Given the description of an element on the screen output the (x, y) to click on. 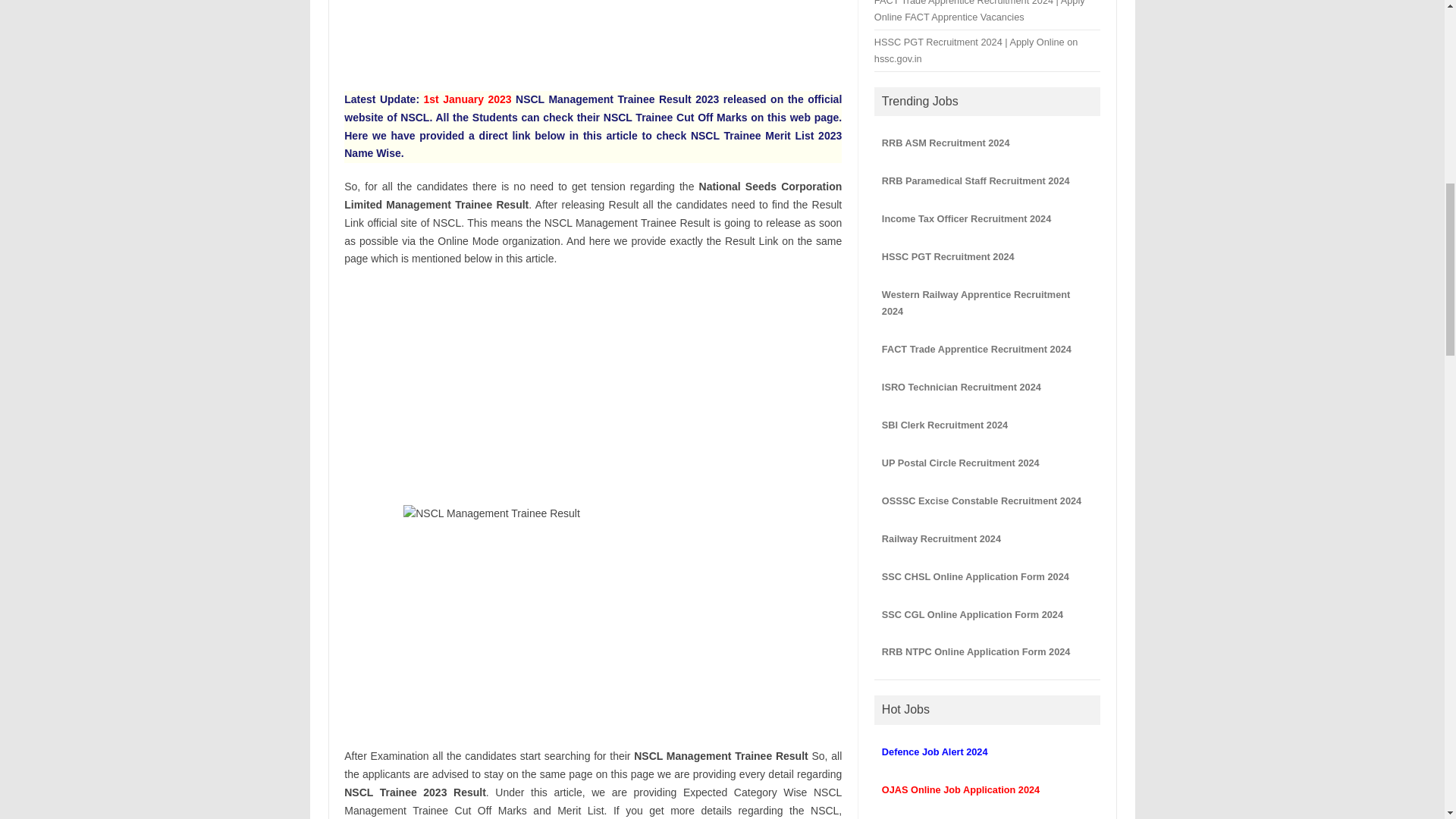
RRB Paramedical Staff Recruitment 2024 (976, 180)
SBI Clerk Recruitment 2024 (944, 424)
HSSC PGT Recruitment 2024 (948, 256)
FACT Trade Apprentice Recruitment 2024 (976, 348)
Income Tax Officer Recruitment 2024 (966, 218)
Western Railway Apprentice Recruitment 2024 (976, 302)
OSSSC Excise Constable Recruitment 2024 (981, 500)
UP Postal Circle Recruitment 2024 (960, 462)
RRB ASM Recruitment 2024 (946, 142)
ISRO Technician Recruitment 2024 (961, 387)
